Given the description of an element on the screen output the (x, y) to click on. 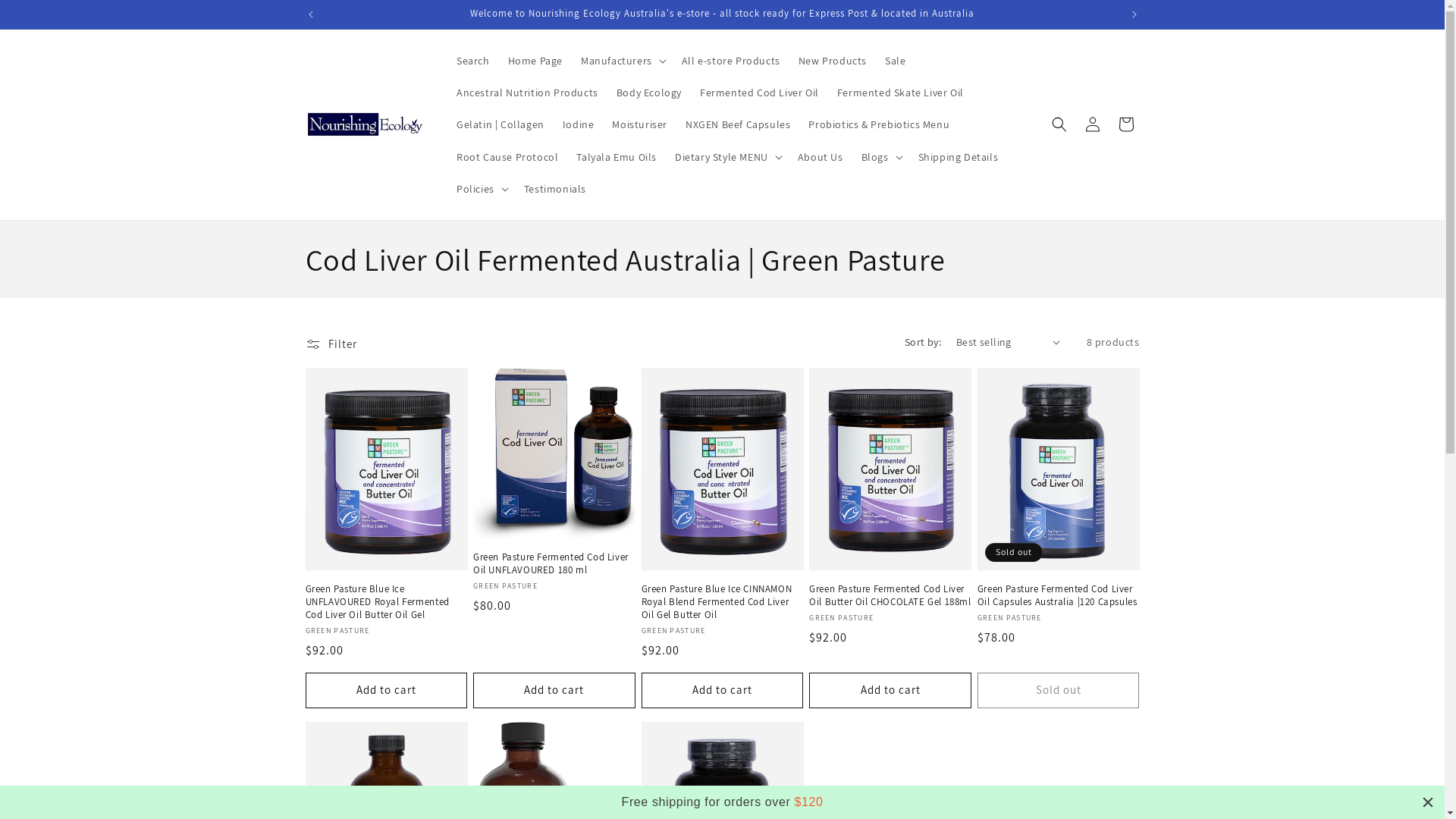
Body Ecology Element type: text (648, 92)
Ancestral Nutrition Products Element type: text (527, 92)
Add to cart Element type: text (890, 690)
Testimonials Element type: text (554, 188)
Fermented Cod Liver Oil Element type: text (759, 92)
Home Page Element type: text (534, 60)
Shipping Details Element type: text (958, 156)
Gelatin | Collagen Element type: text (500, 124)
Green Pasture Fermented Cod Liver Oil UNFLAVOURED 180 ml Element type: text (554, 564)
Sale Element type: text (894, 60)
Add to cart Element type: text (385, 690)
Cart Element type: text (1125, 124)
Iodine Element type: text (578, 124)
Probiotics & Prebiotics Menu Element type: text (878, 124)
Add to cart Element type: text (554, 690)
Search Element type: text (472, 60)
All e-store Products Element type: text (730, 60)
Sold out Element type: text (1058, 690)
About Us Element type: text (820, 156)
NXGEN Beef Capsules Element type: text (737, 124)
New Products Element type: text (832, 60)
Root Cause Protocol Element type: text (507, 156)
Add to cart Element type: text (722, 690)
Moisturiser Element type: text (639, 124)
Fermented Skate Liver Oil Element type: text (900, 92)
Talyala Emu Oils Element type: text (616, 156)
Log in Element type: text (1091, 124)
